Given the description of an element on the screen output the (x, y) to click on. 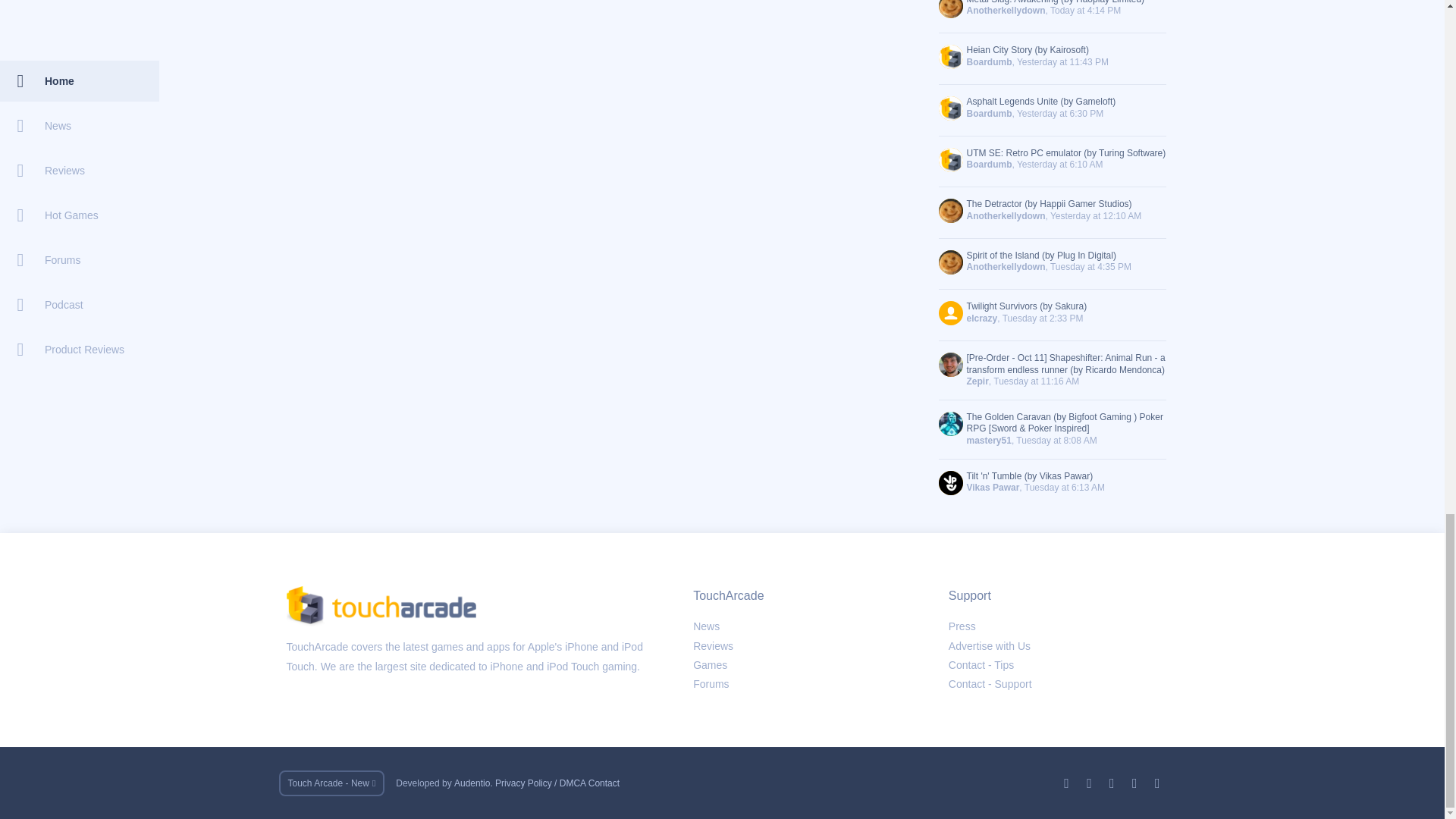
Yesterday at 11:43 PM (1062, 61)
Today at 4:14 PM (1085, 9)
